Given the description of an element on the screen output the (x, y) to click on. 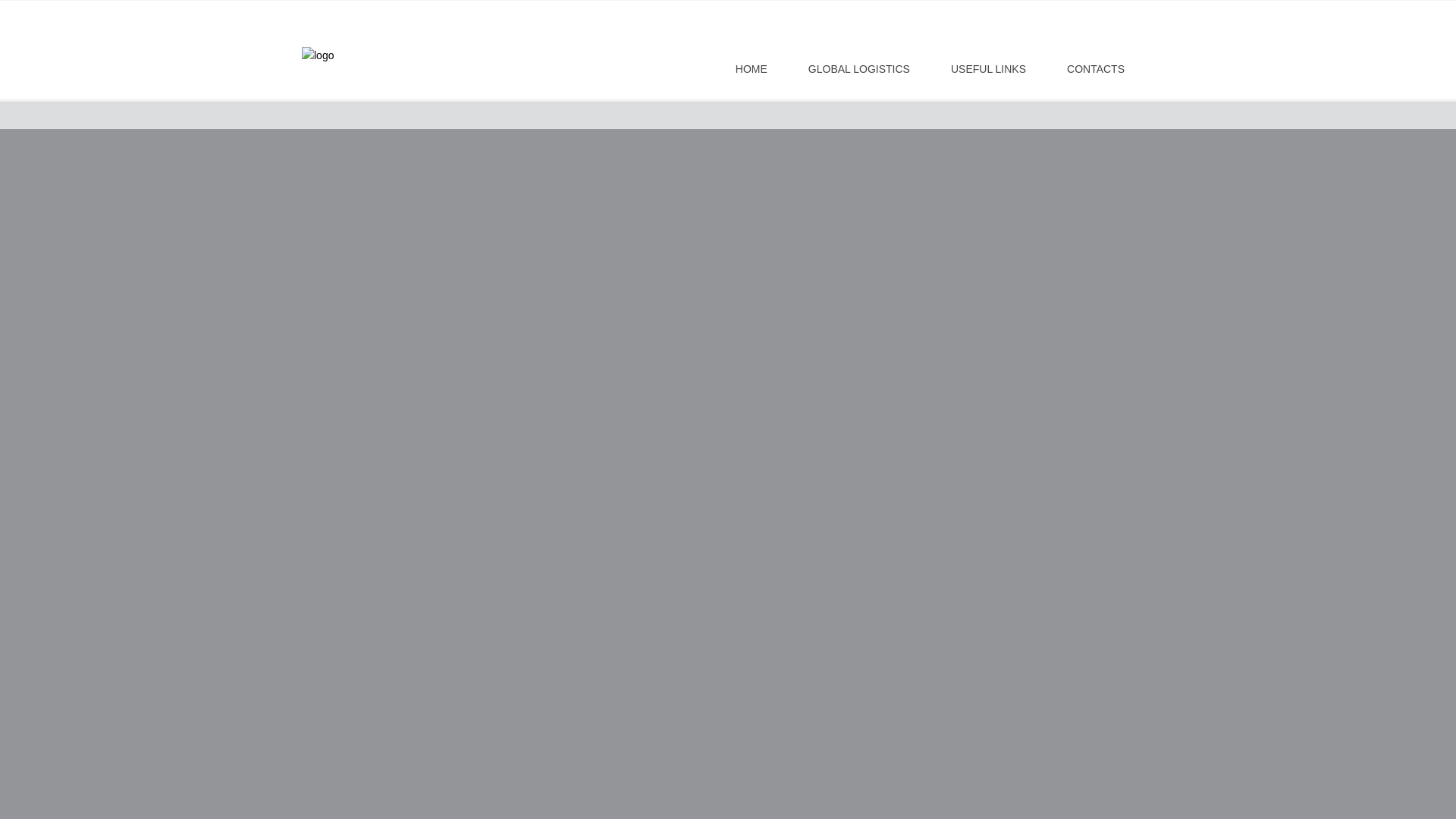
USEFUL LINKS (987, 67)
CONTACTS (1095, 67)
GLOBAL LOGISTICS (859, 67)
